Given the description of an element on the screen output the (x, y) to click on. 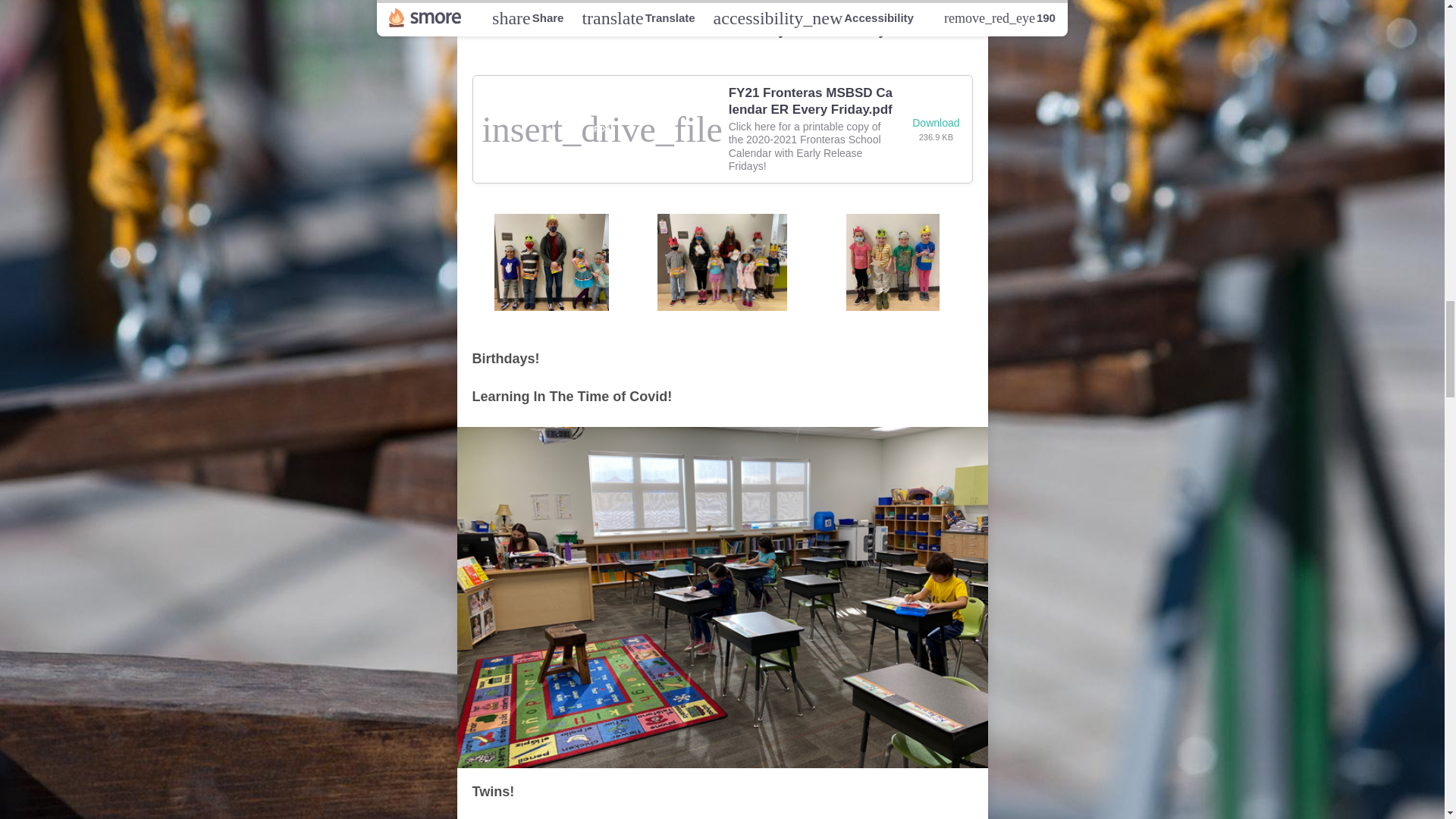
FY21 Fronteras MSBSD Calendar ER Every Friday.pdf (812, 101)
